Given the description of an element on the screen output the (x, y) to click on. 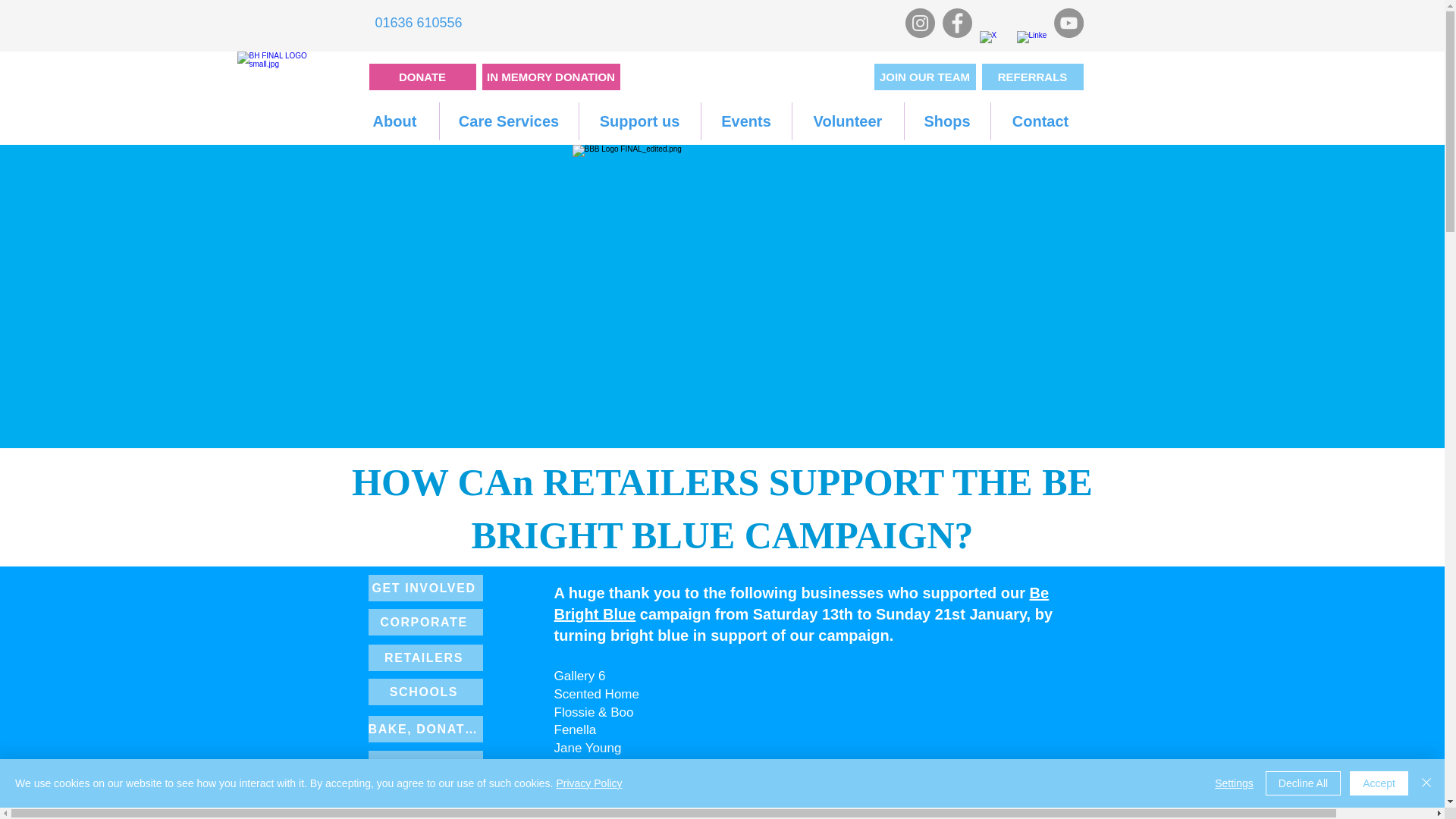
REFERRALS (1032, 76)
IN MEMORY DONATION (550, 76)
JOIN OUR TEAM (924, 76)
About (394, 121)
DONATE (422, 76)
Support us (639, 121)
01636 610556 (418, 22)
Care Services (508, 121)
